Given the description of an element on the screen output the (x, y) to click on. 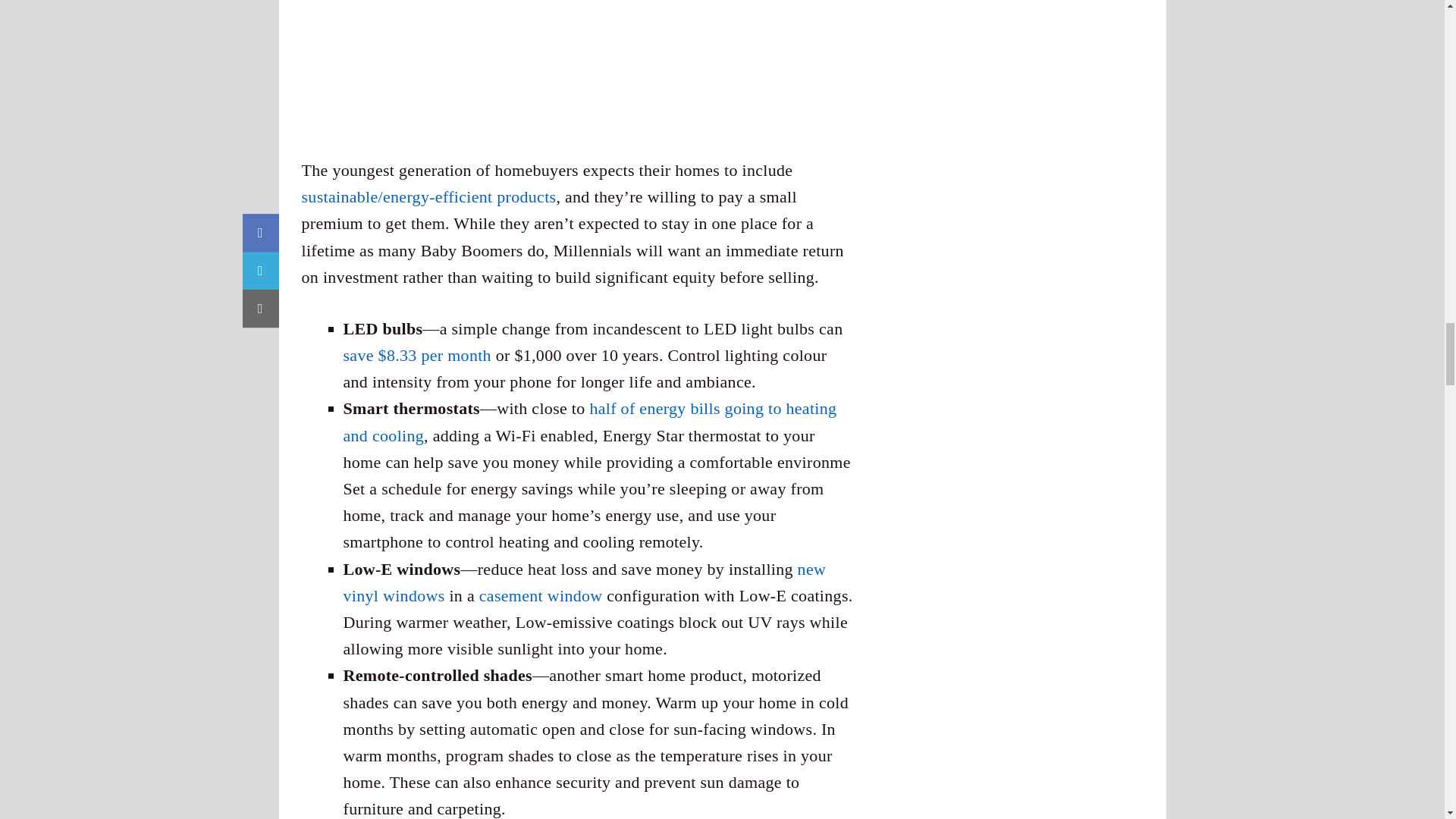
casement window (540, 595)
new vinyl windows (583, 582)
half of energy bills going to heating and cooling (588, 421)
